Given the description of an element on the screen output the (x, y) to click on. 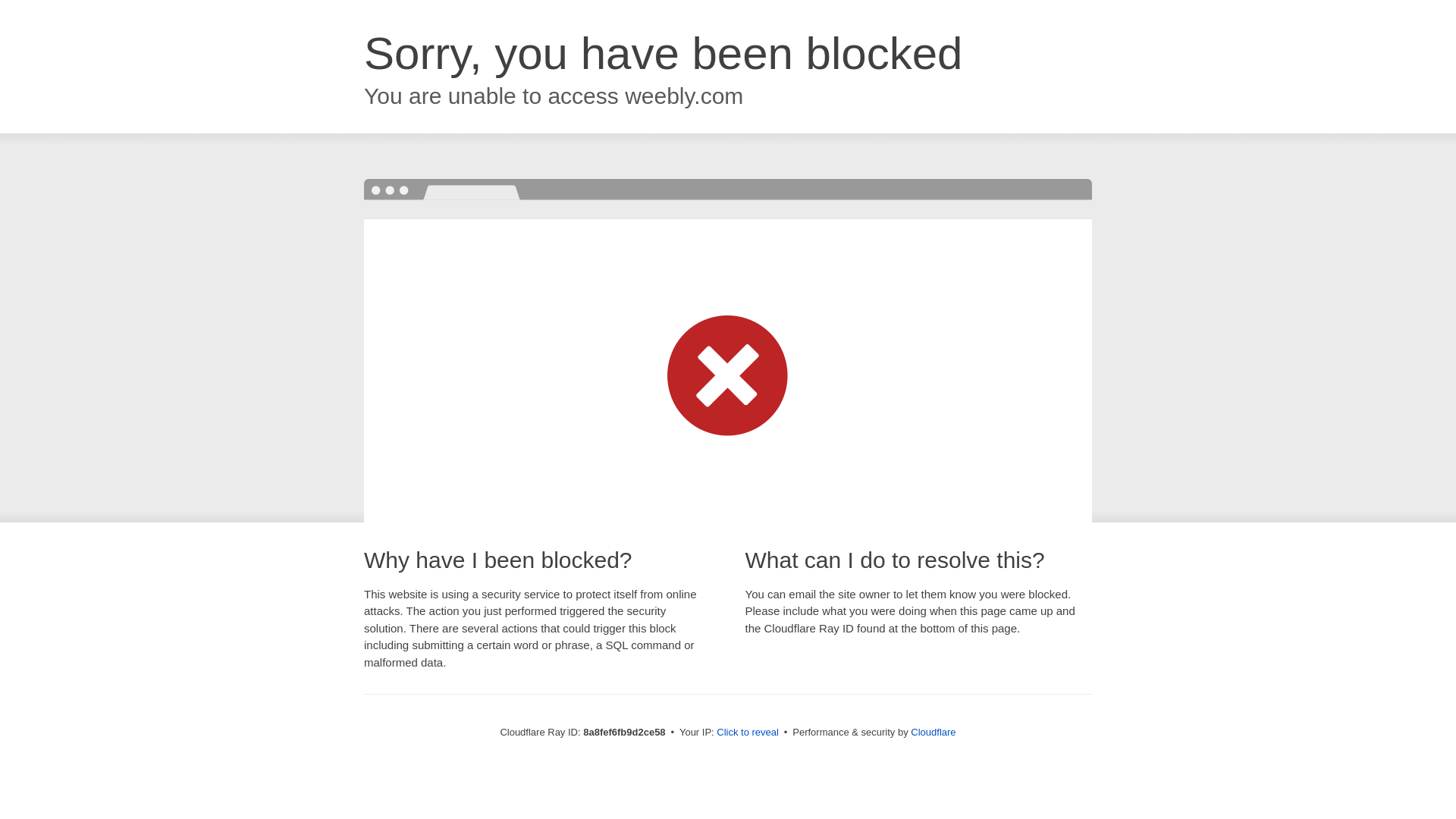
Cloudflare (933, 731)
Click to reveal (747, 732)
